Given the description of an element on the screen output the (x, y) to click on. 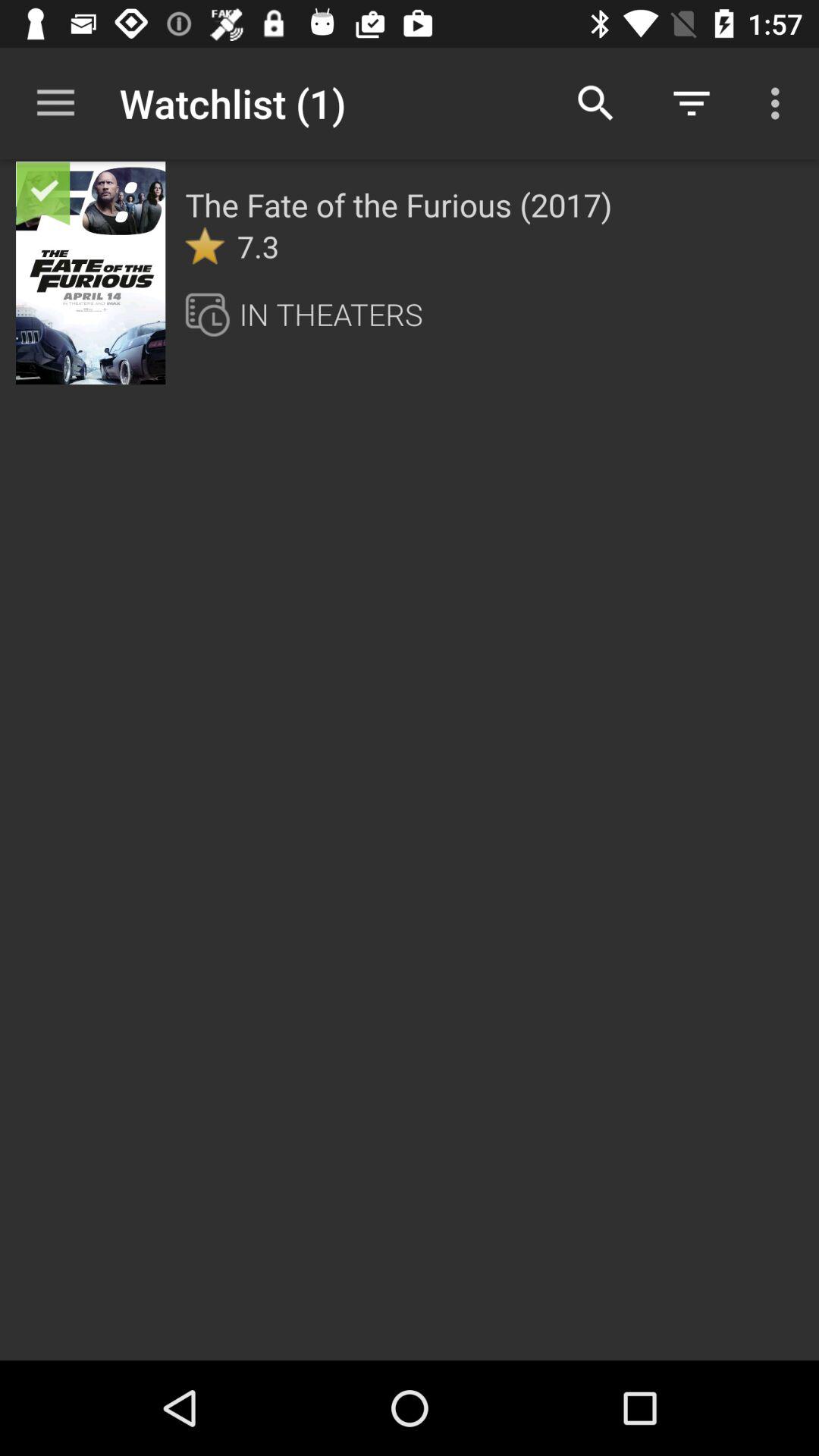
select the item below the fate of (205, 246)
